Given the description of an element on the screen output the (x, y) to click on. 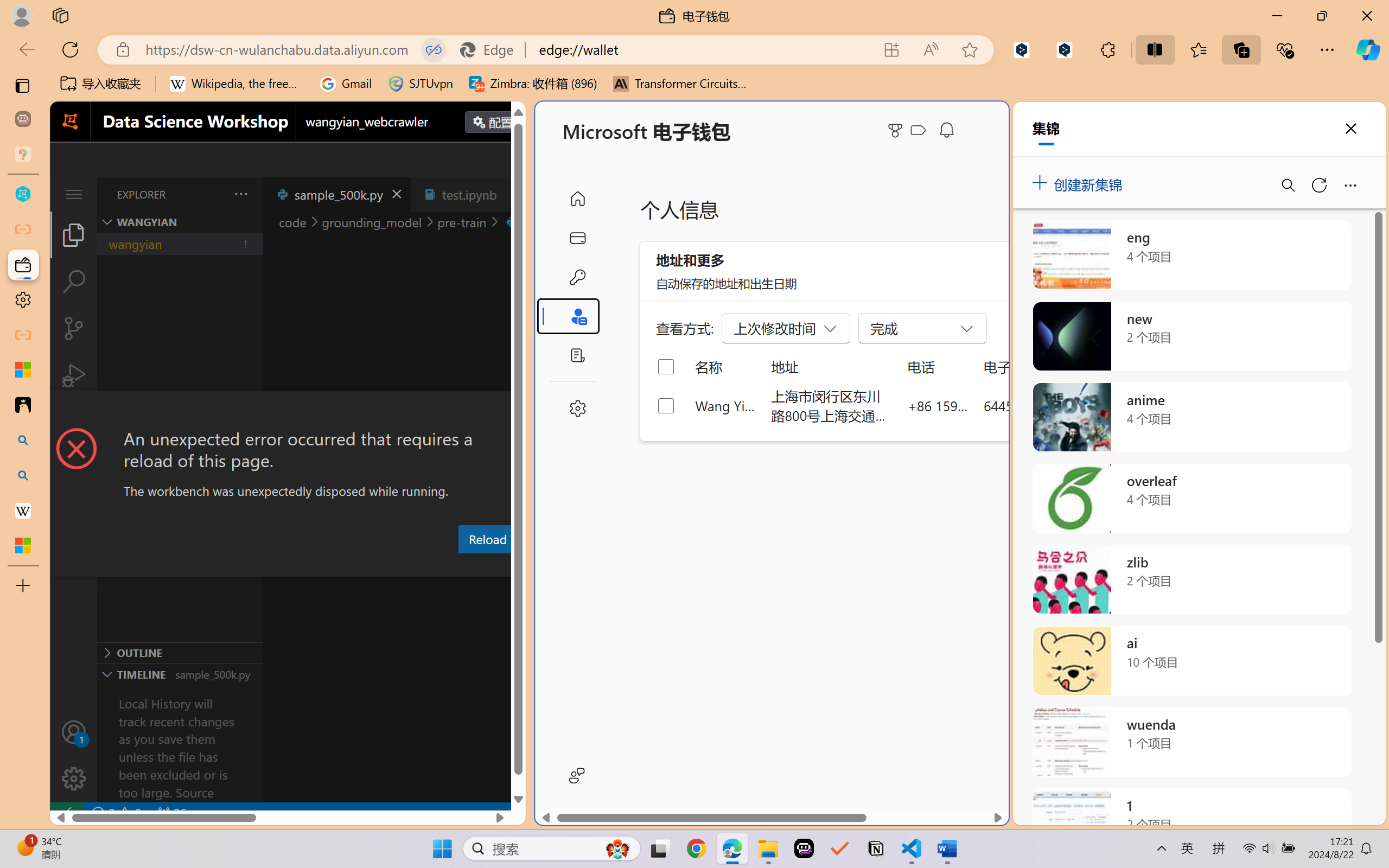
wangyian_dsw - DSW (22, 194)
Manage (73, 778)
Reload (486, 538)
Application Menu (73, 194)
